Given the description of an element on the screen output the (x, y) to click on. 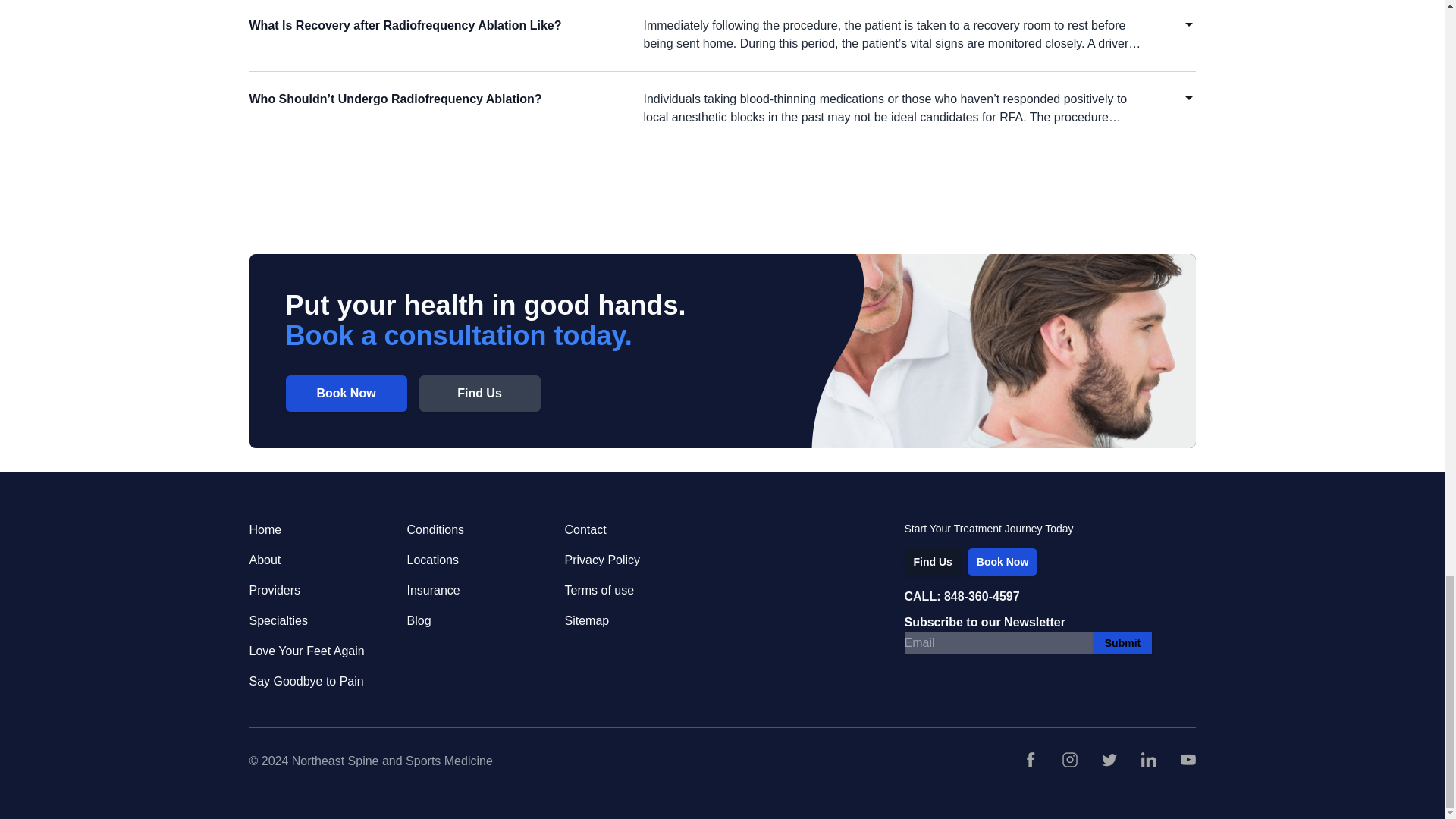
Submit (1122, 642)
Book Now (345, 393)
Find Us (479, 393)
Book Now (1002, 561)
Find Us (932, 561)
Submit (1122, 642)
CALL: 848-360-4597 (1049, 597)
